Given the description of an element on the screen output the (x, y) to click on. 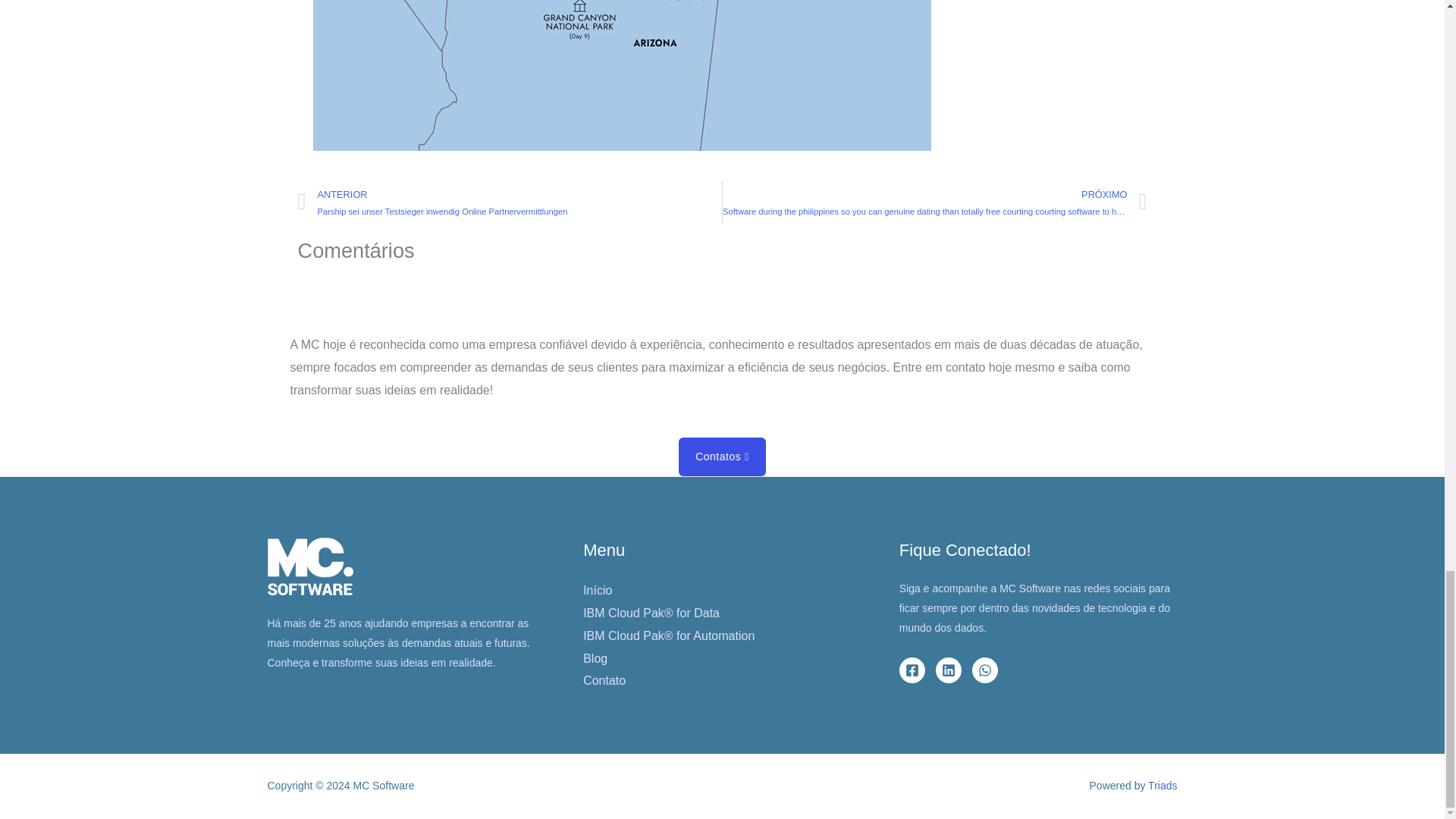
Contatos (721, 456)
